Given the description of an element on the screen output the (x, y) to click on. 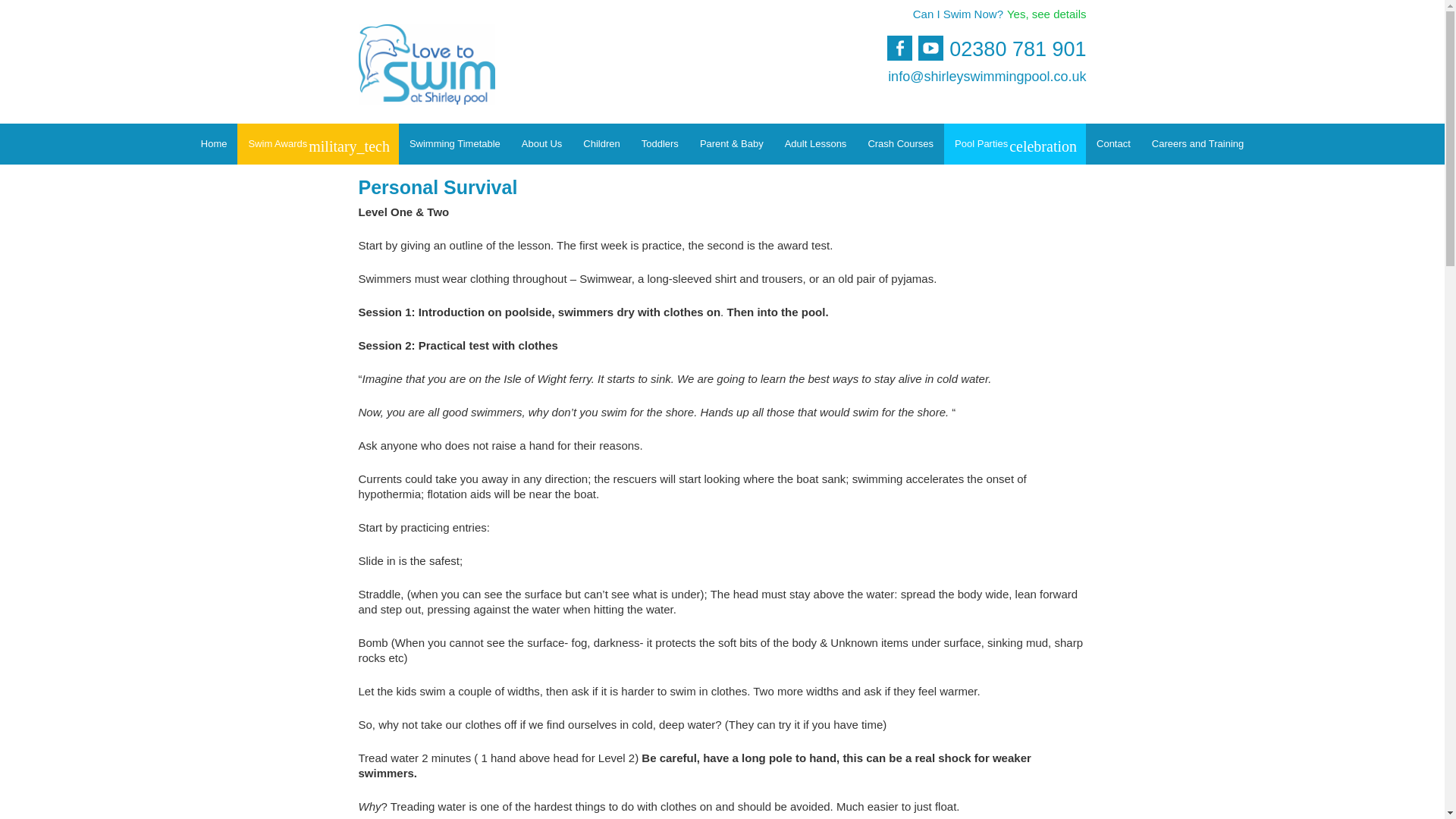
Children (601, 143)
Home (214, 143)
Swim Awards (317, 143)
Can I Swim Now?Yes, see details (986, 21)
About Us (541, 143)
Crash Courses (900, 143)
Adult Lessons (815, 143)
Toddlers (659, 143)
Swimming Timetable (454, 143)
